Given the description of an element on the screen output the (x, y) to click on. 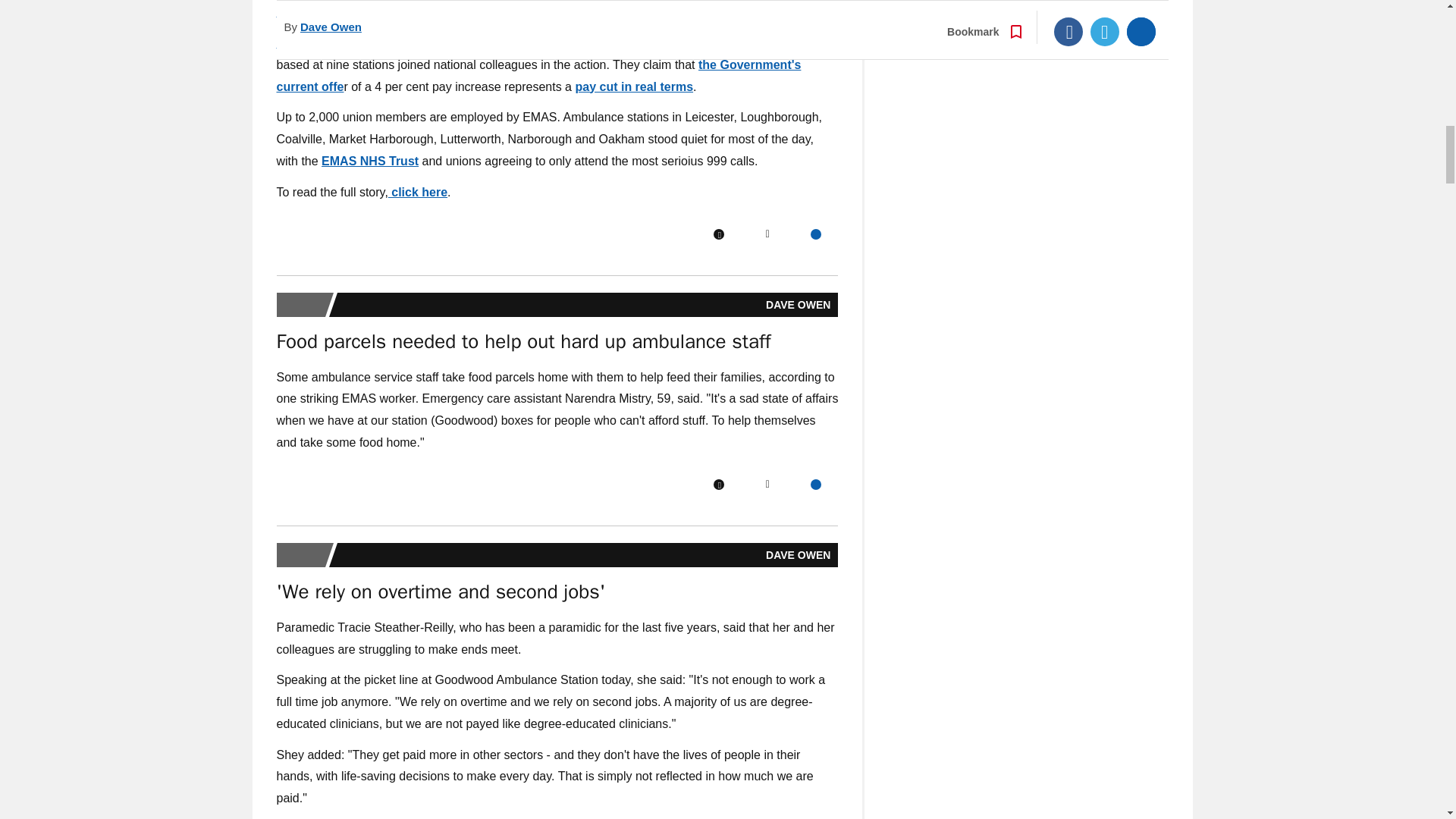
Facebook (718, 484)
Facebook (718, 234)
Twitter (767, 484)
Twitter (767, 234)
